Given the description of an element on the screen output the (x, y) to click on. 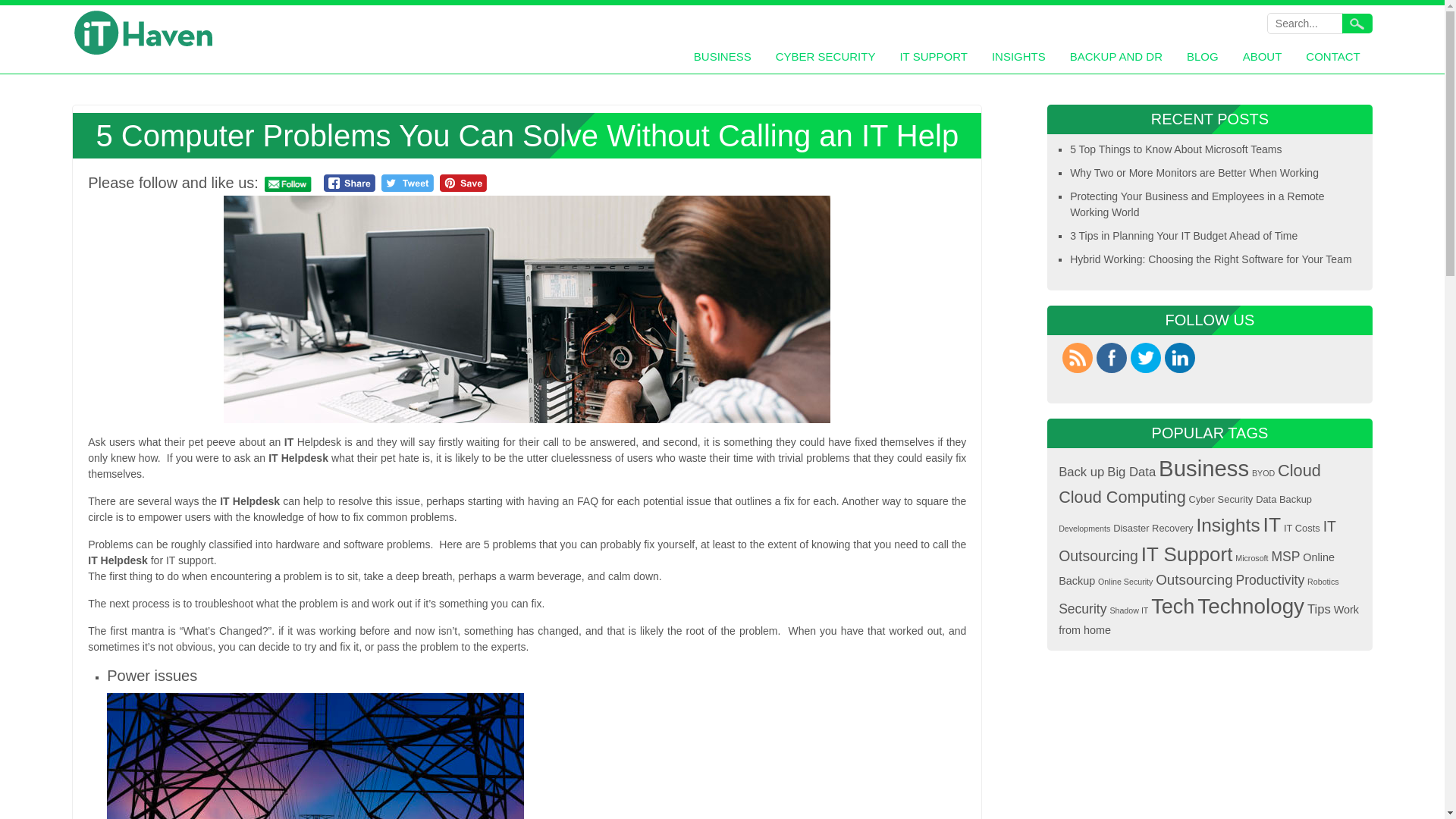
3 Tips in Planning Your IT Budget Ahead of Time (1183, 235)
INSIGHTS (1018, 58)
CYBER SECURITY (825, 58)
Search (1357, 23)
Facebook Share (349, 182)
IT SUPPORT (933, 58)
Why Two or More Monitors are Better When Working (1194, 173)
5 Top Things to Know About Microsoft Teams (1175, 149)
ABOUT (1262, 58)
CONTACT (1332, 58)
Hybrid Working: Choosing the Right Software for Your Team (1210, 259)
BACKUP AND DR (1115, 58)
Pin Share (462, 182)
BLOG (1202, 58)
